Given the description of an element on the screen output the (x, y) to click on. 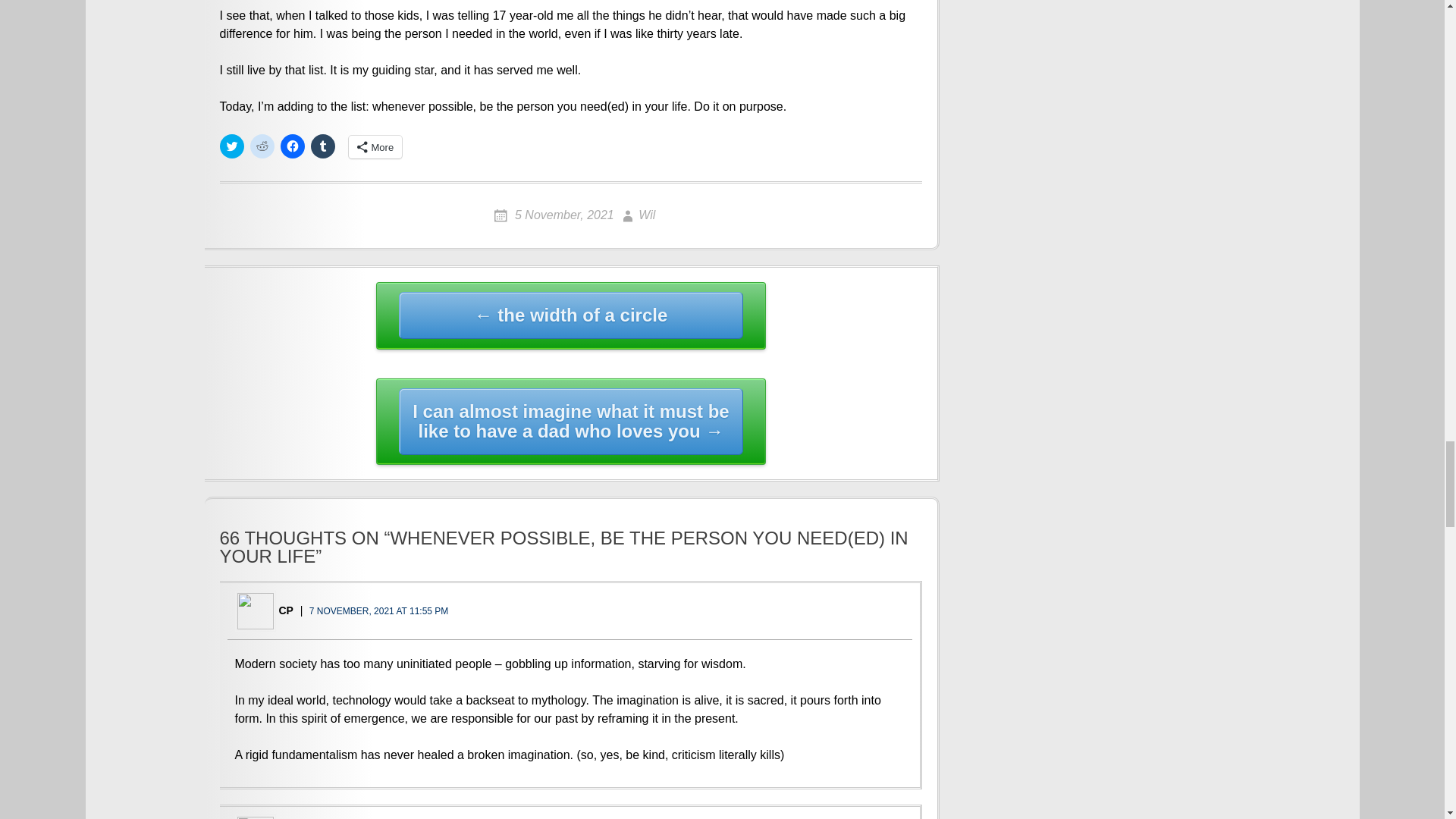
Click to share on Twitter (231, 146)
5 November, 2021 (553, 214)
More (376, 146)
Wil (636, 214)
7 NOVEMBER, 2021 AT 11:55 PM (378, 611)
Click to share on Tumblr (322, 146)
5 November, 2021 (553, 214)
Wil (636, 214)
Click to share on Facebook (292, 146)
Click to share on Reddit (262, 146)
